Given the description of an element on the screen output the (x, y) to click on. 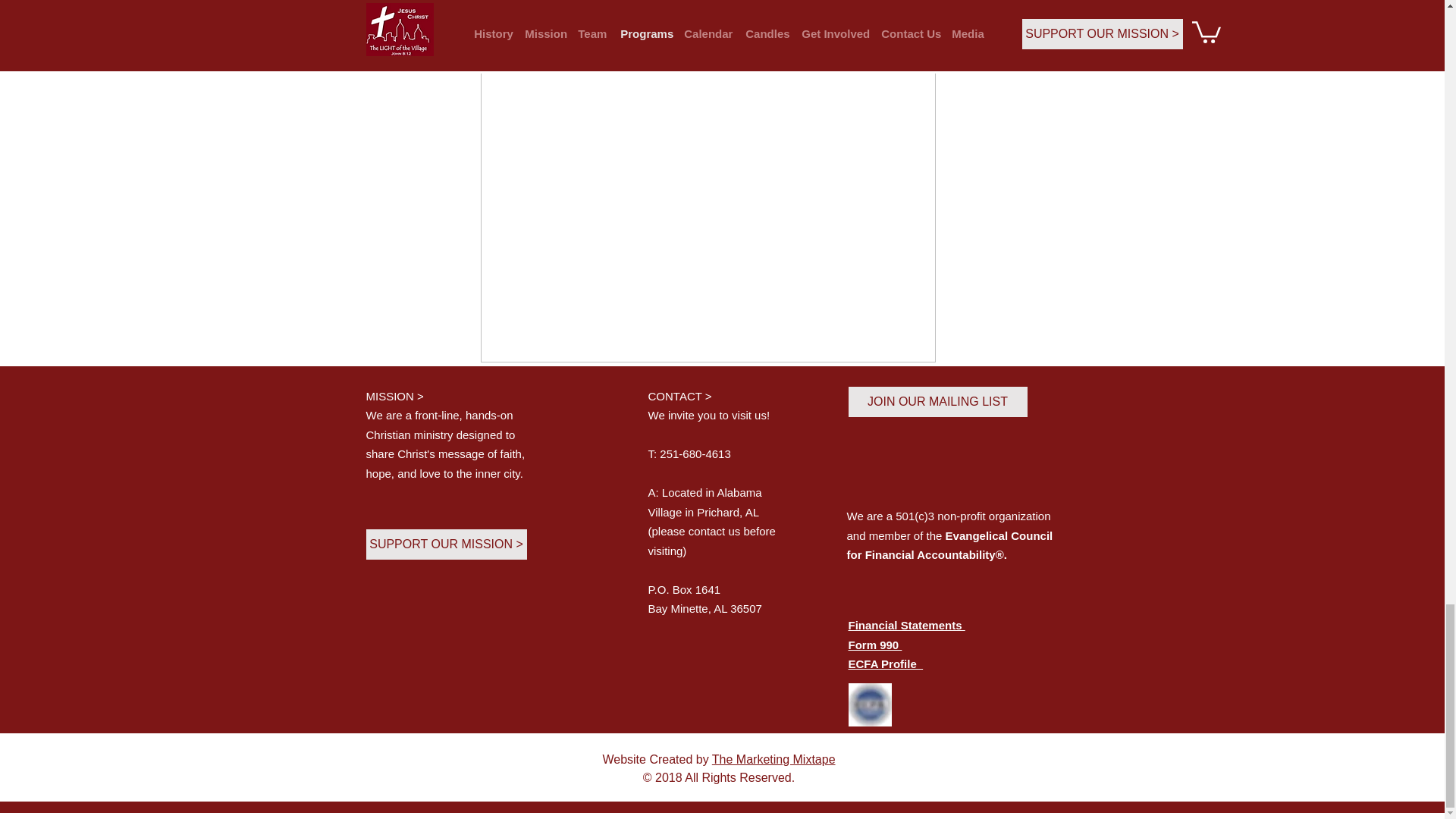
Form 990  (874, 644)
ECFA Profile   (885, 663)
The Marketing Mixtape (773, 758)
Financial Statements  (905, 625)
JOIN OUR MAILING LIST (936, 401)
